Given the description of an element on the screen output the (x, y) to click on. 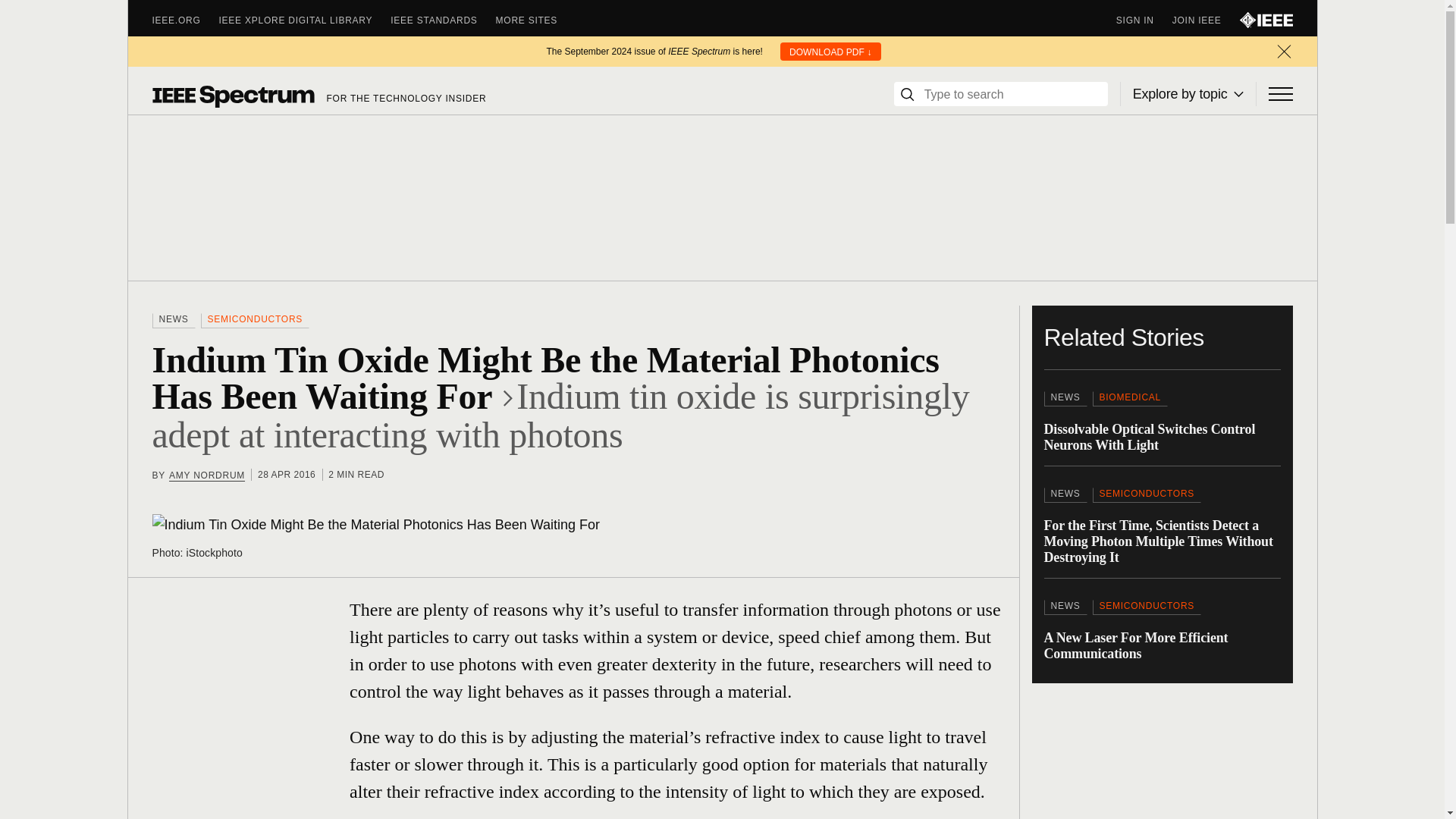
IEEE STANDARDS (442, 20)
IEEE XPLORE DIGITAL LIBRARY (305, 20)
Close bar (1283, 51)
Spectrum Logo (232, 95)
IEEE.ORG (184, 20)
Search (907, 93)
JOIN IEEE (1206, 20)
MORE SITES (536, 20)
SIGN IN (1144, 20)
